Given the description of an element on the screen output the (x, y) to click on. 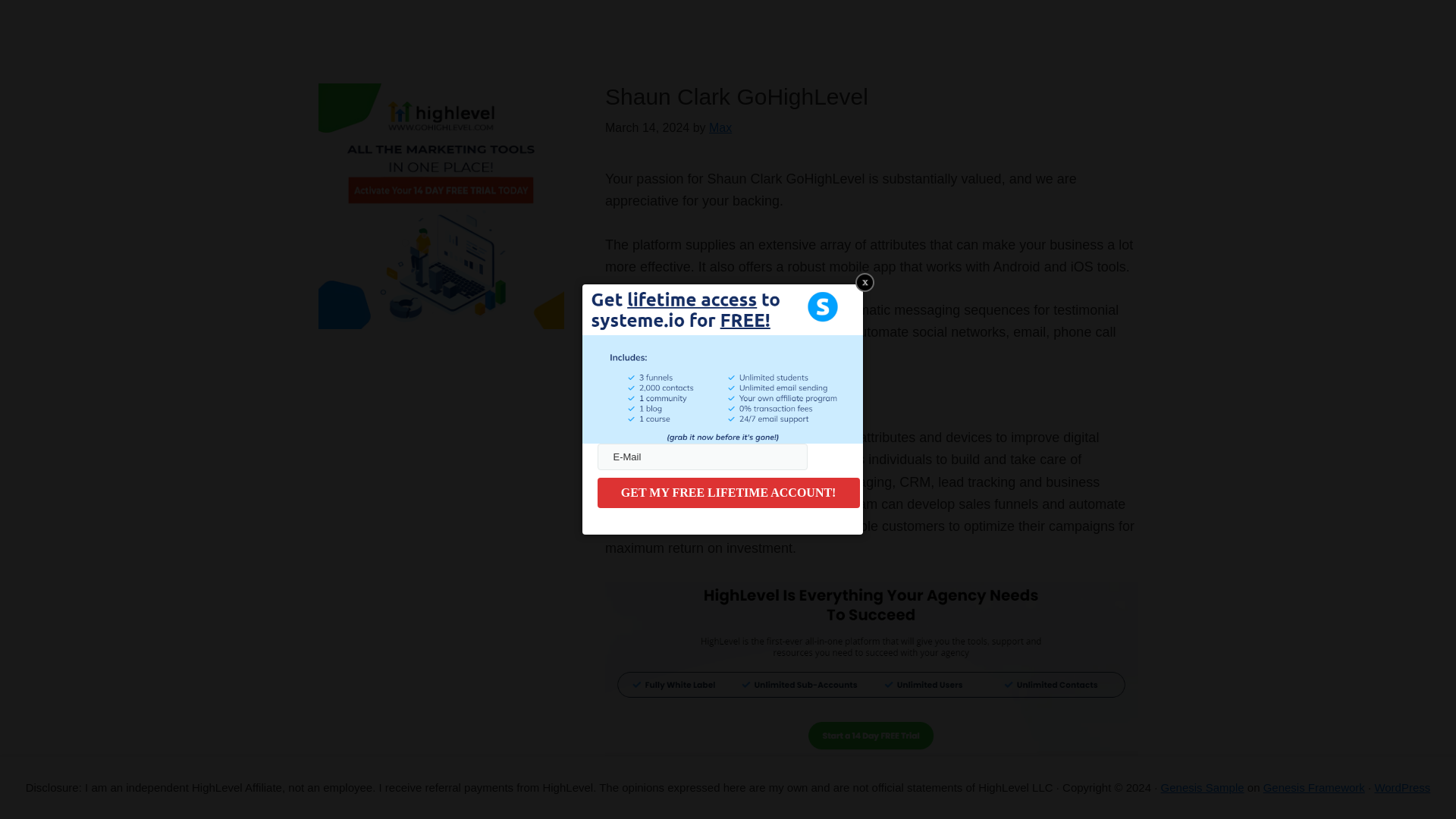
Genesis Sample (1202, 787)
WordPress (1401, 787)
Genesis Framework (1314, 787)
GET MY FREE LIFETIME ACCOUNT! (728, 492)
Max (720, 127)
GET MY FREE LIFETIME ACCOUNT! (728, 492)
